Given the description of an element on the screen output the (x, y) to click on. 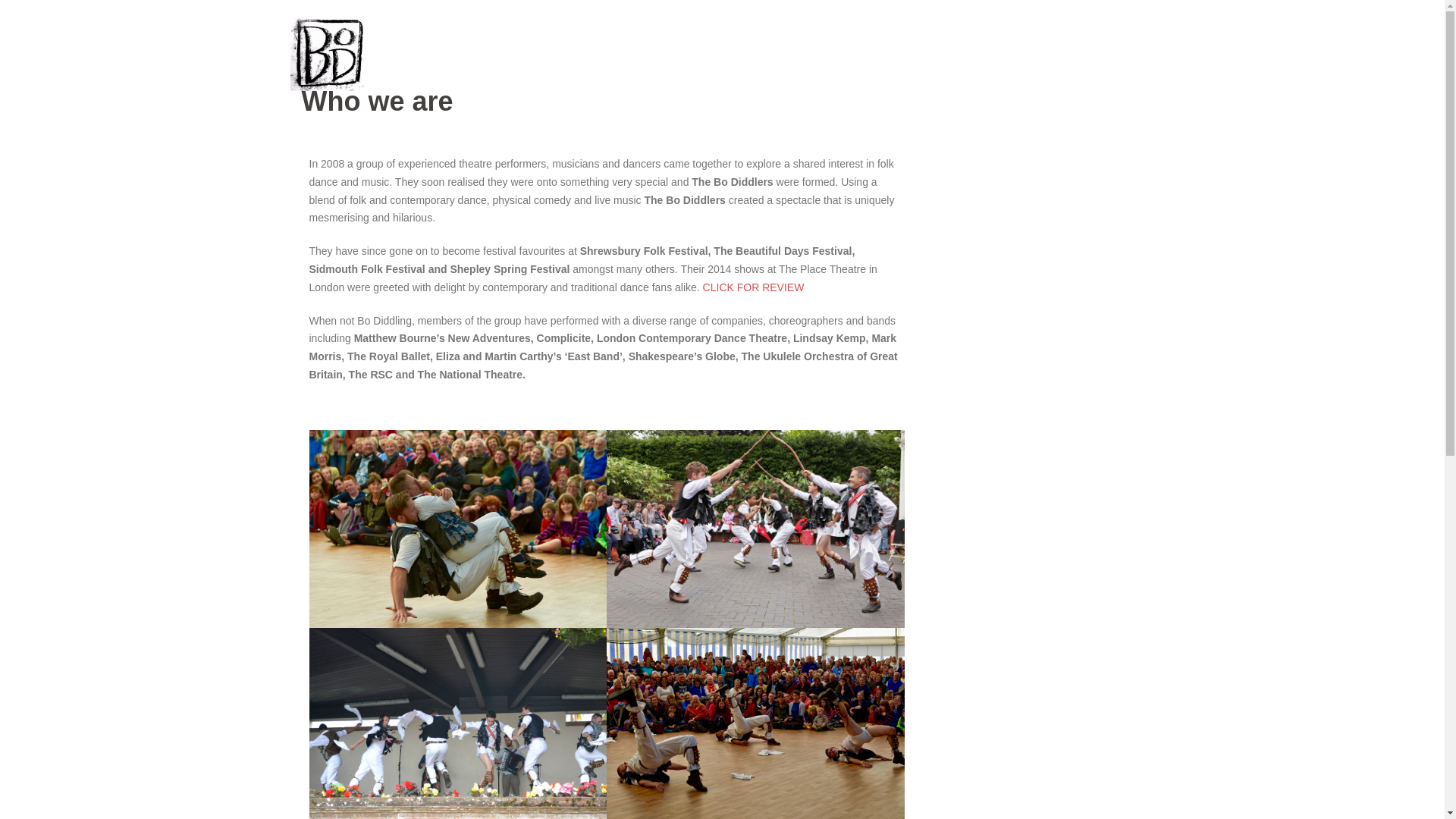
Contact (1124, 53)
Who we are (936, 53)
The Bo Diddlers (327, 51)
Video (1072, 53)
Home (872, 53)
CLICK FOR REVIEW (754, 287)
